Given the description of an element on the screen output the (x, y) to click on. 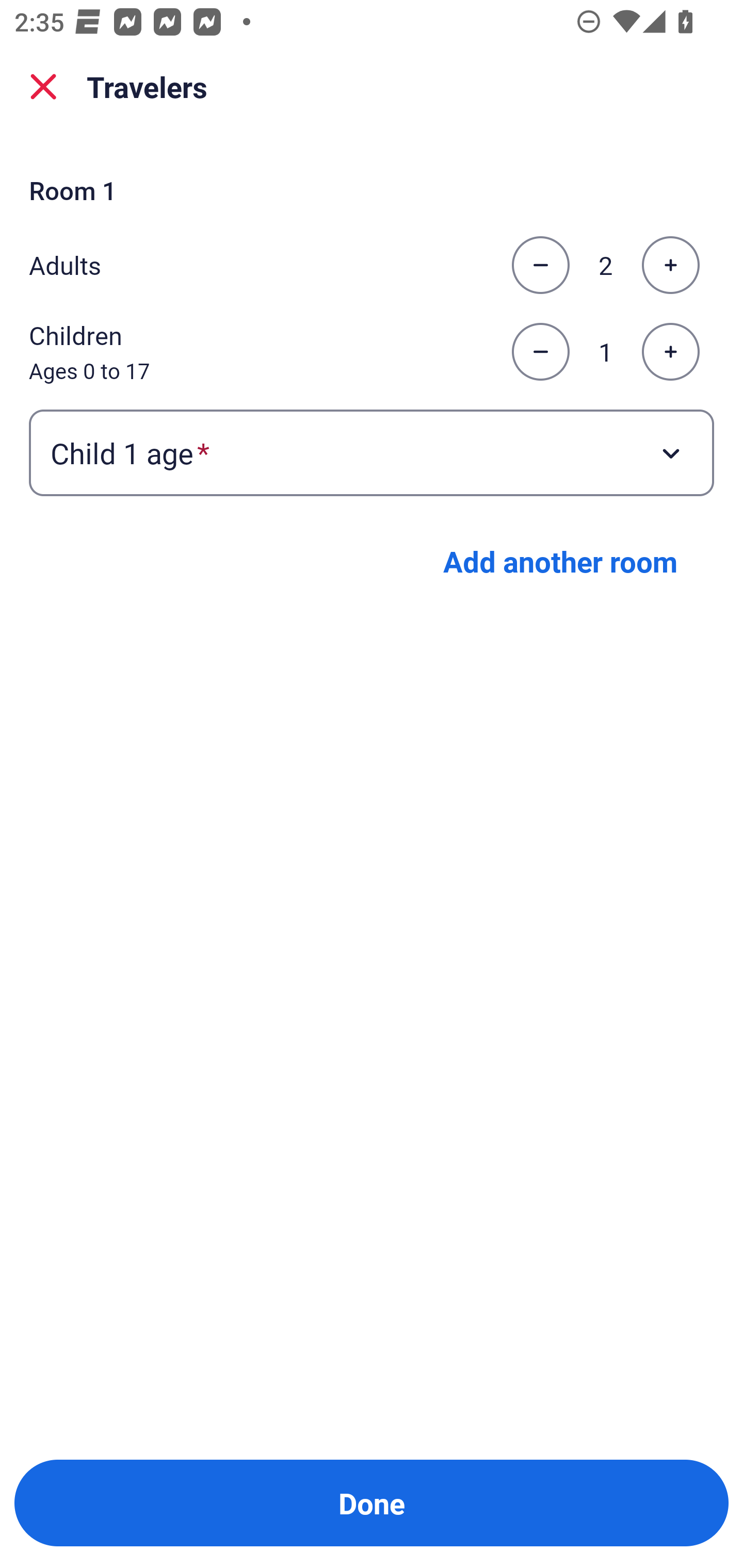
close (43, 86)
Decrease the number of adults (540, 264)
Increase the number of adults (670, 264)
Decrease the number of children (540, 351)
Increase the number of children (670, 351)
Child 1 age required Button (371, 452)
Add another room (560, 561)
Done (371, 1502)
